Given the description of an element on the screen output the (x, y) to click on. 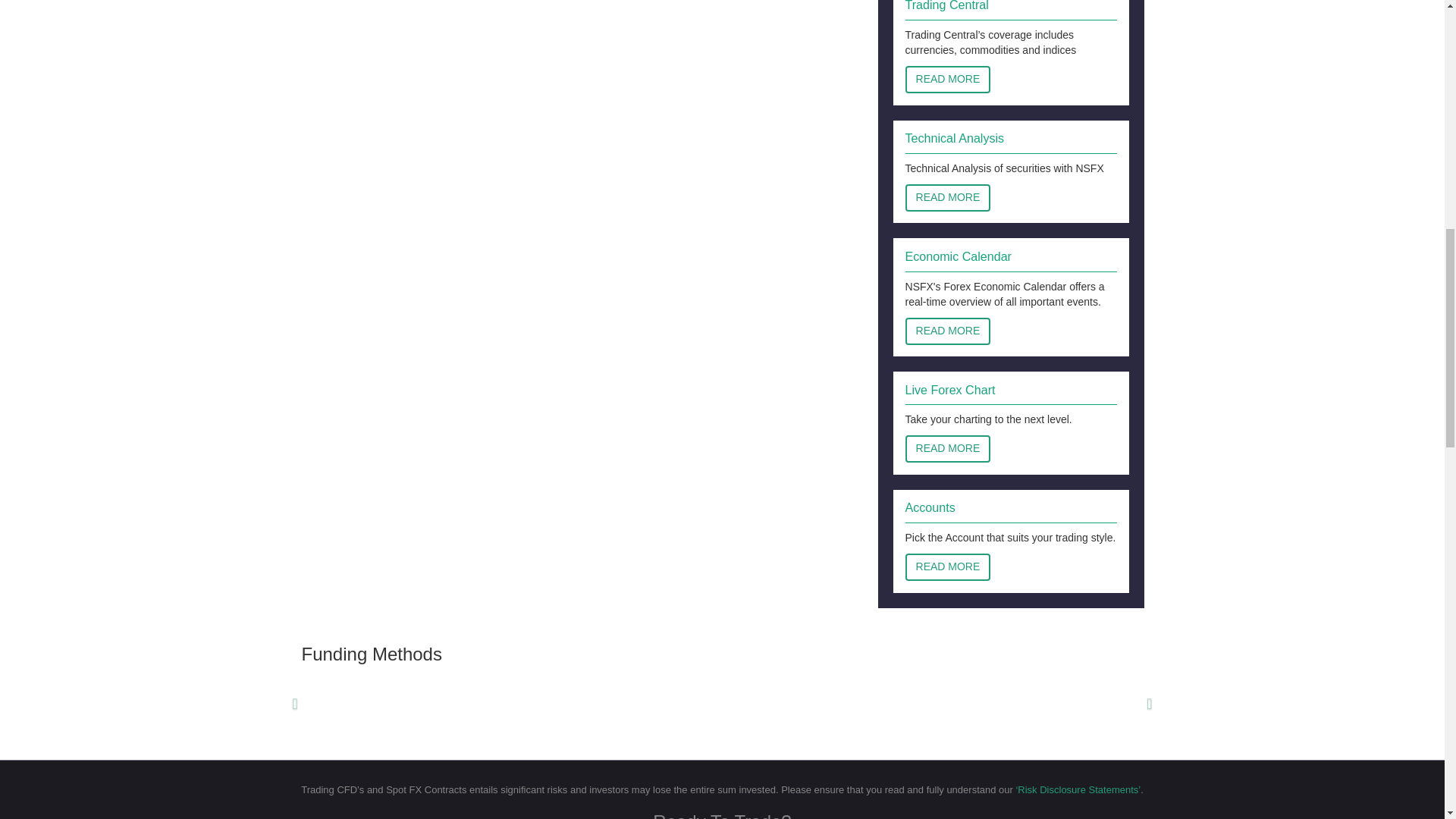
Visit our Technical Analysis page (948, 197)
Visit our Accounts page (948, 566)
Visit the  Economic calendar Page (948, 330)
Visit our Forex Chart Page (948, 448)
Visit the Trading Central Page (948, 79)
